Given the description of an element on the screen output the (x, y) to click on. 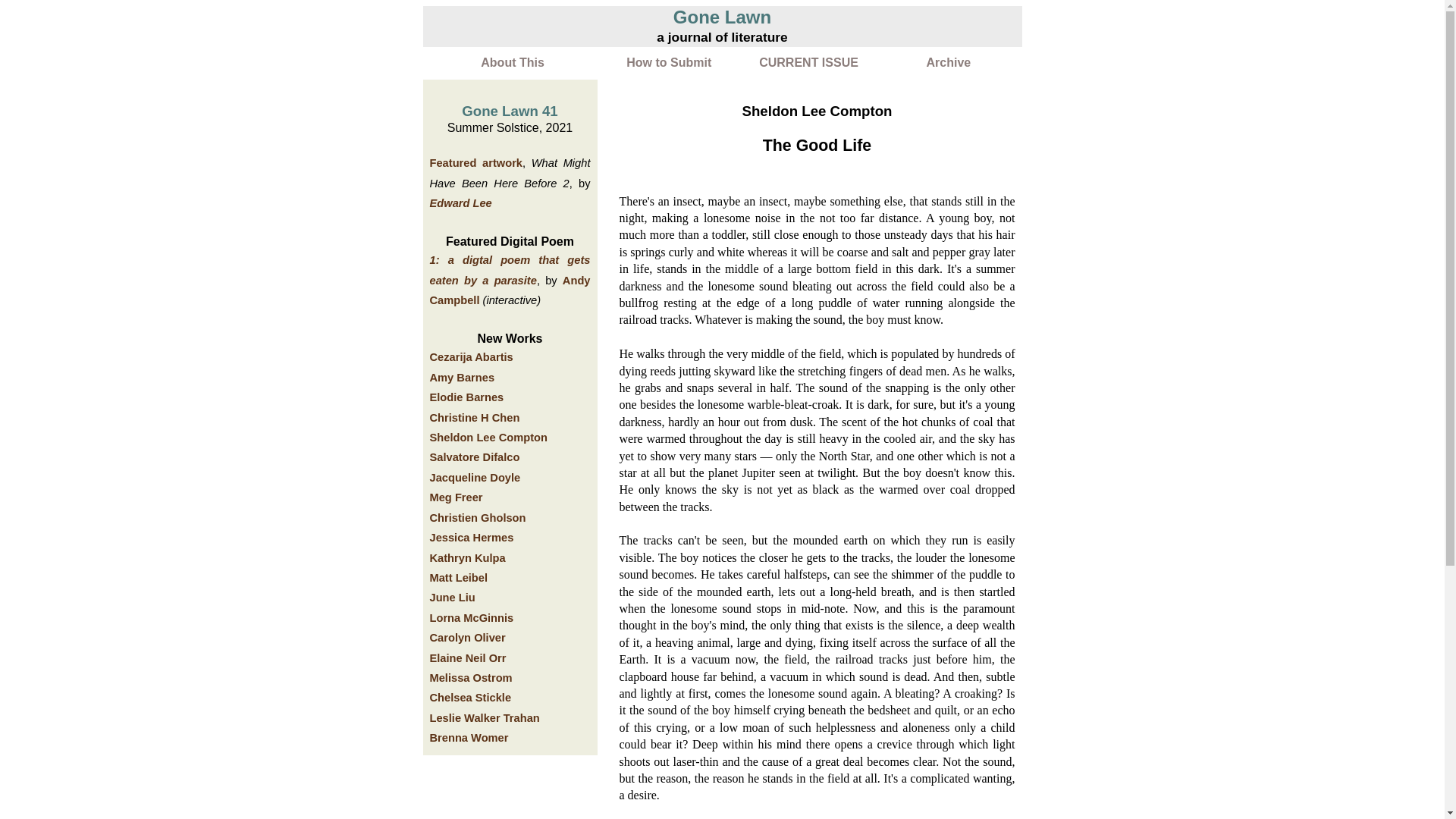
Leslie Walker Trahan (483, 717)
Christine H Chen (474, 417)
How to Submit (669, 62)
Jacqueline Doyle (474, 477)
Brenna Womer (468, 737)
Meg Freer (455, 497)
CURRENT ISSUE (808, 62)
Elaine Neil Orr (467, 657)
Amy Barnes (462, 377)
Andy Campbell (509, 290)
